Given the description of an element on the screen output the (x, y) to click on. 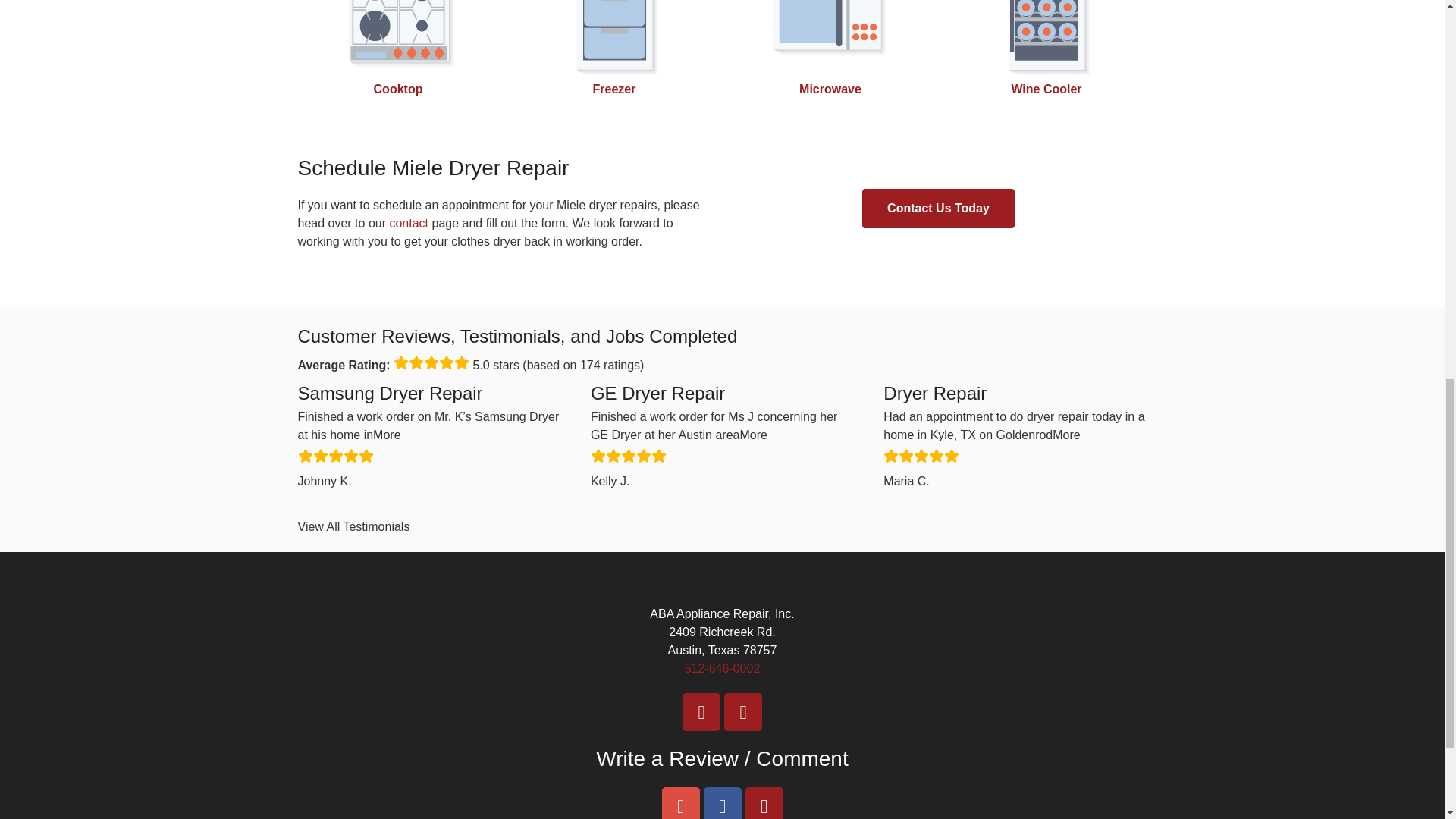
Miele wine cooler repair (1045, 88)
Miele cooktop repair (398, 88)
Contact Us (408, 223)
Miele freezer repair (614, 88)
Miele microwave oven repair (830, 88)
